Given the description of an element on the screen output the (x, y) to click on. 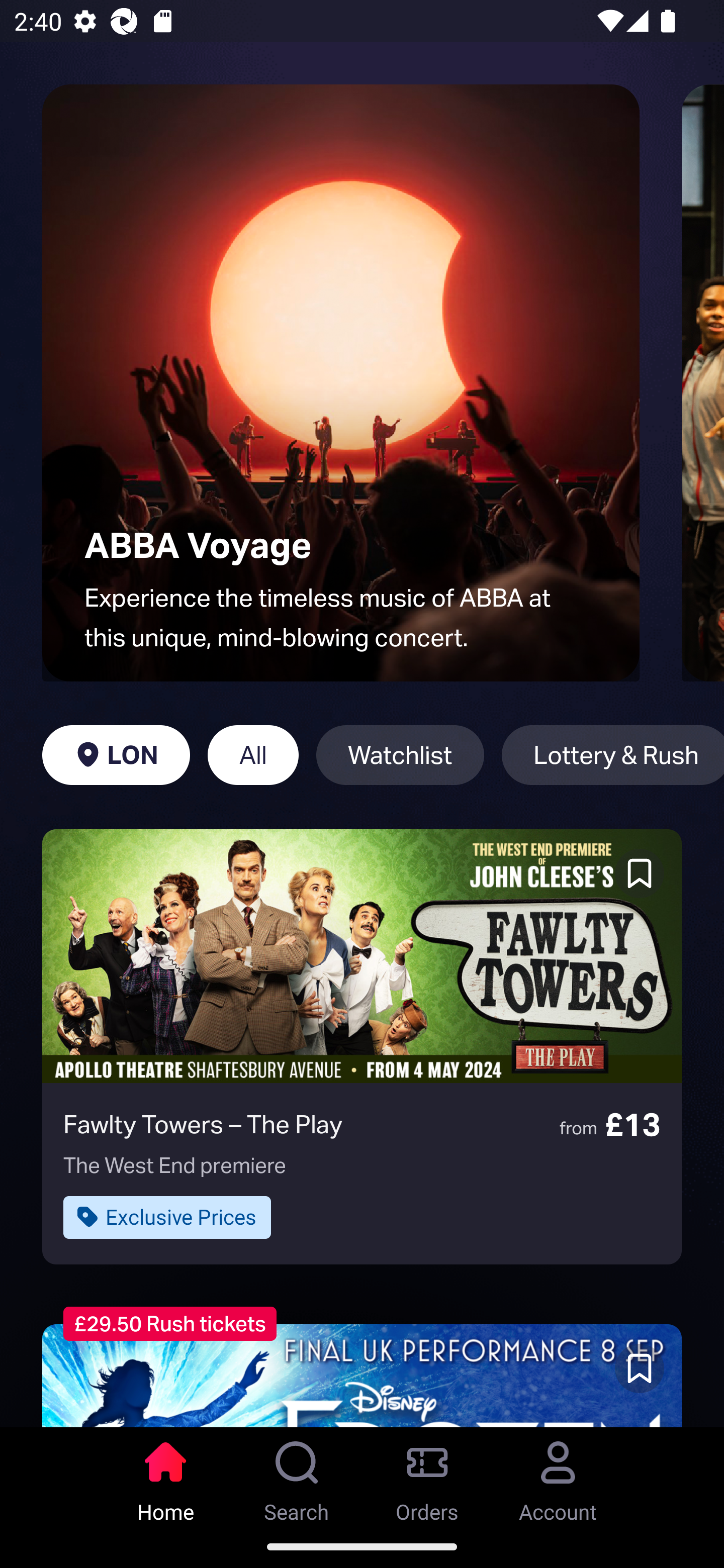
LON (115, 754)
All (252, 754)
Watchlist (400, 754)
Lottery & Rush (612, 754)
Search (296, 1475)
Orders (427, 1475)
Account (558, 1475)
